Given the description of an element on the screen output the (x, y) to click on. 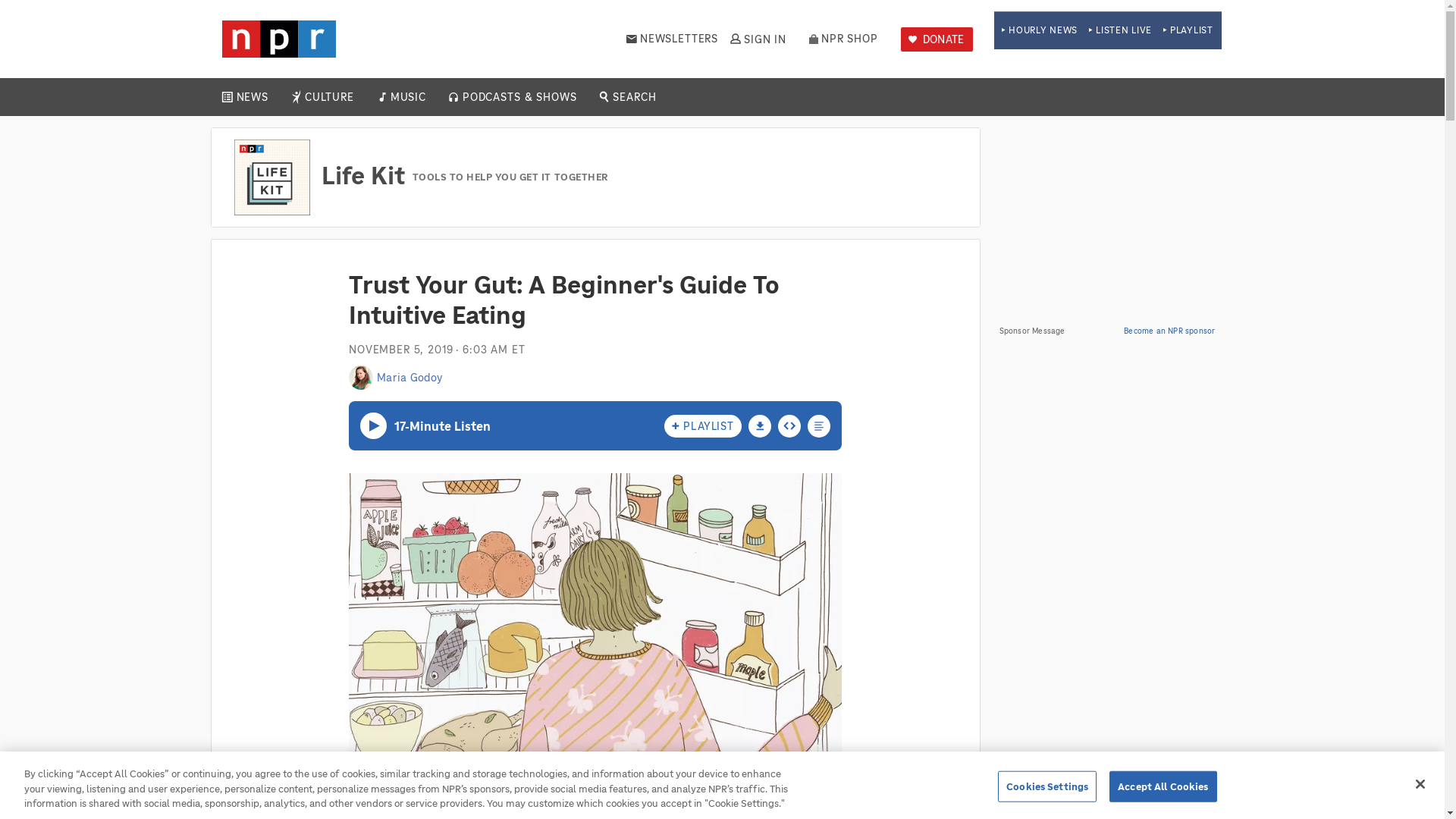
PLAYLIST (1187, 30)
SIGN IN (757, 38)
CULTURE (328, 96)
MUSIC (407, 96)
HOURLY NEWS (1039, 30)
NPR SHOP (843, 38)
DONATE (936, 39)
NEWSLETTERS (671, 38)
NEWS (251, 96)
LISTEN LIVE (1120, 30)
